Given the description of an element on the screen output the (x, y) to click on. 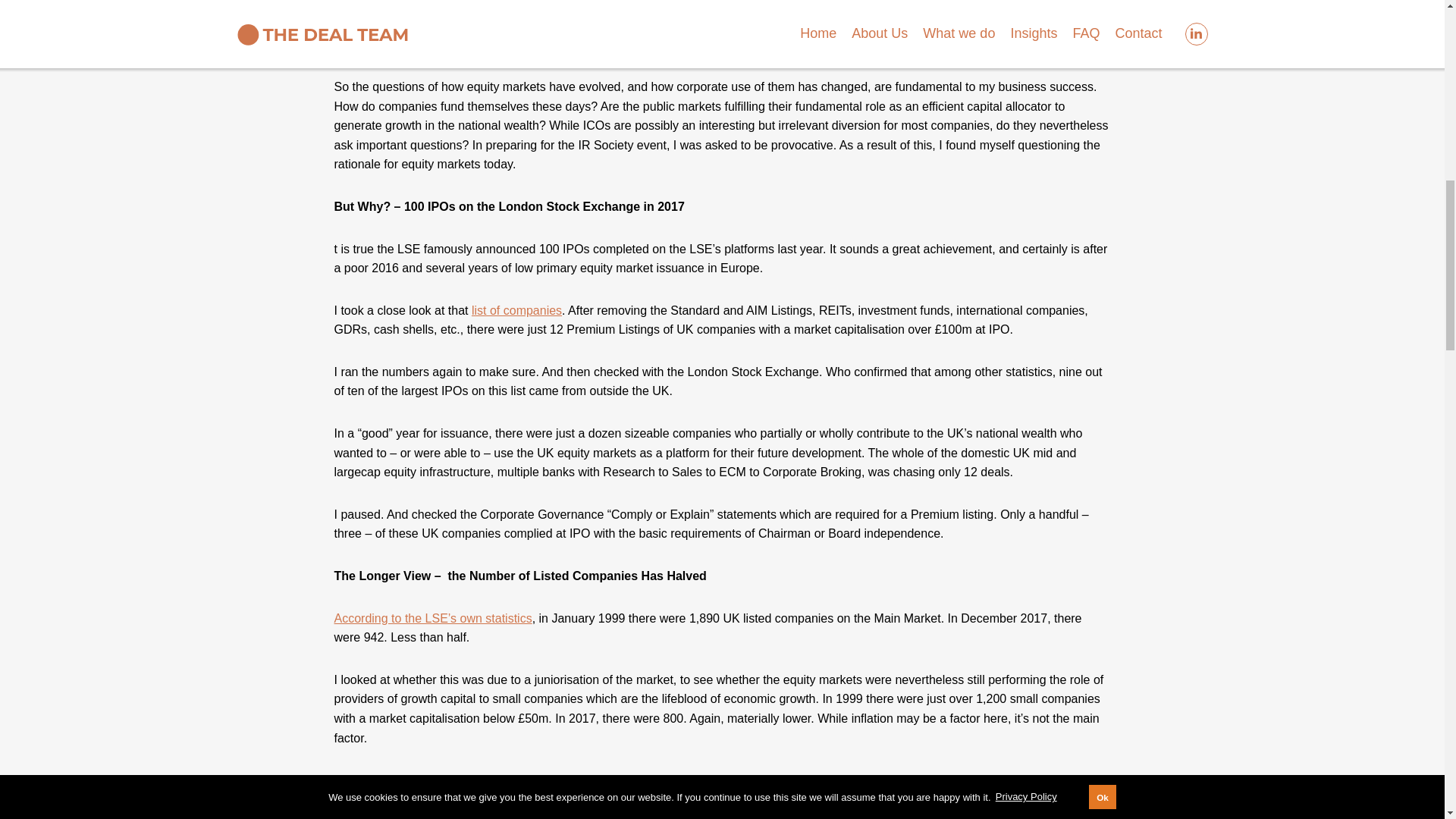
list of companies (516, 514)
